Given the description of an element on the screen output the (x, y) to click on. 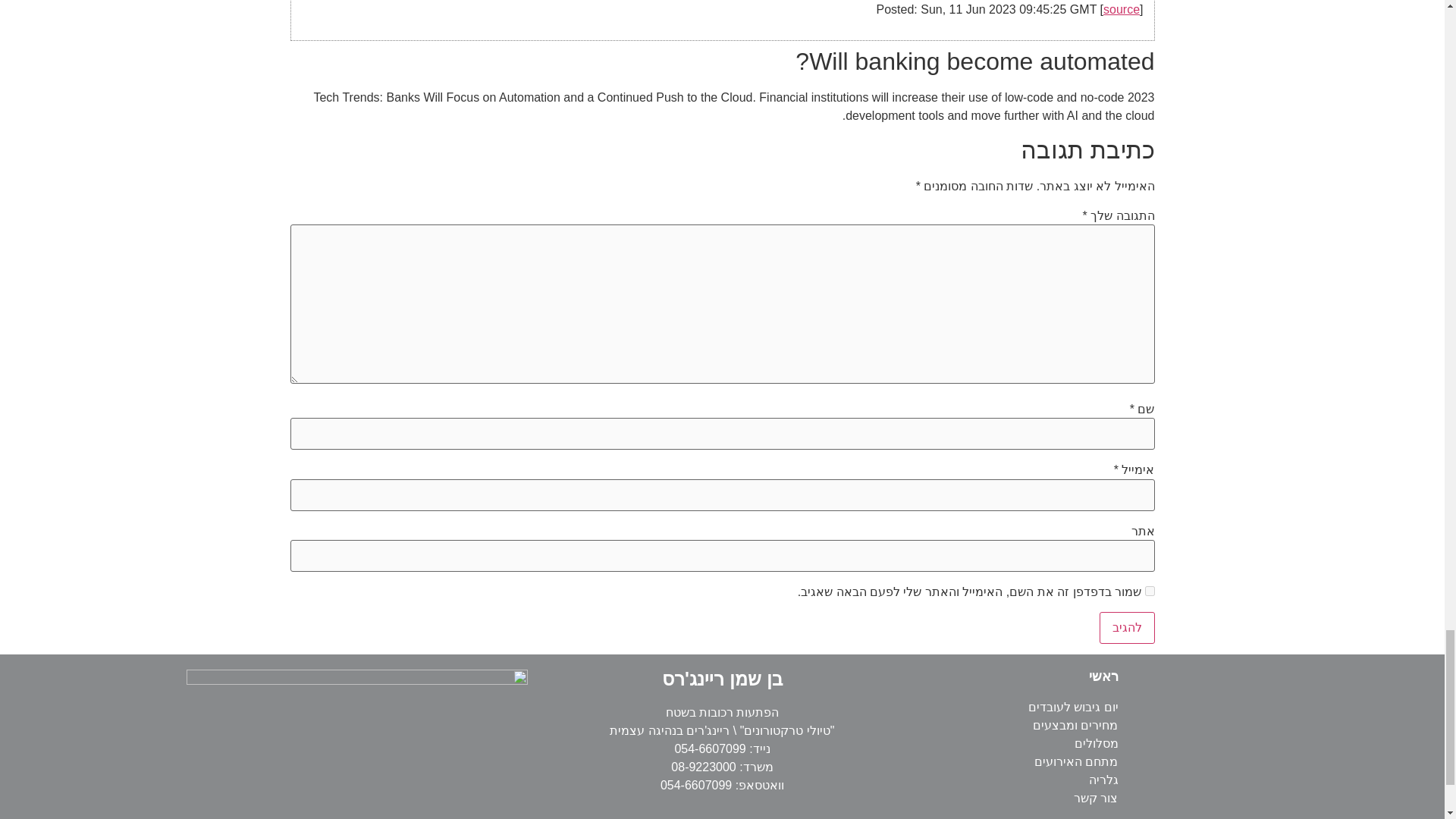
yes (1149, 590)
